Given the description of an element on the screen output the (x, y) to click on. 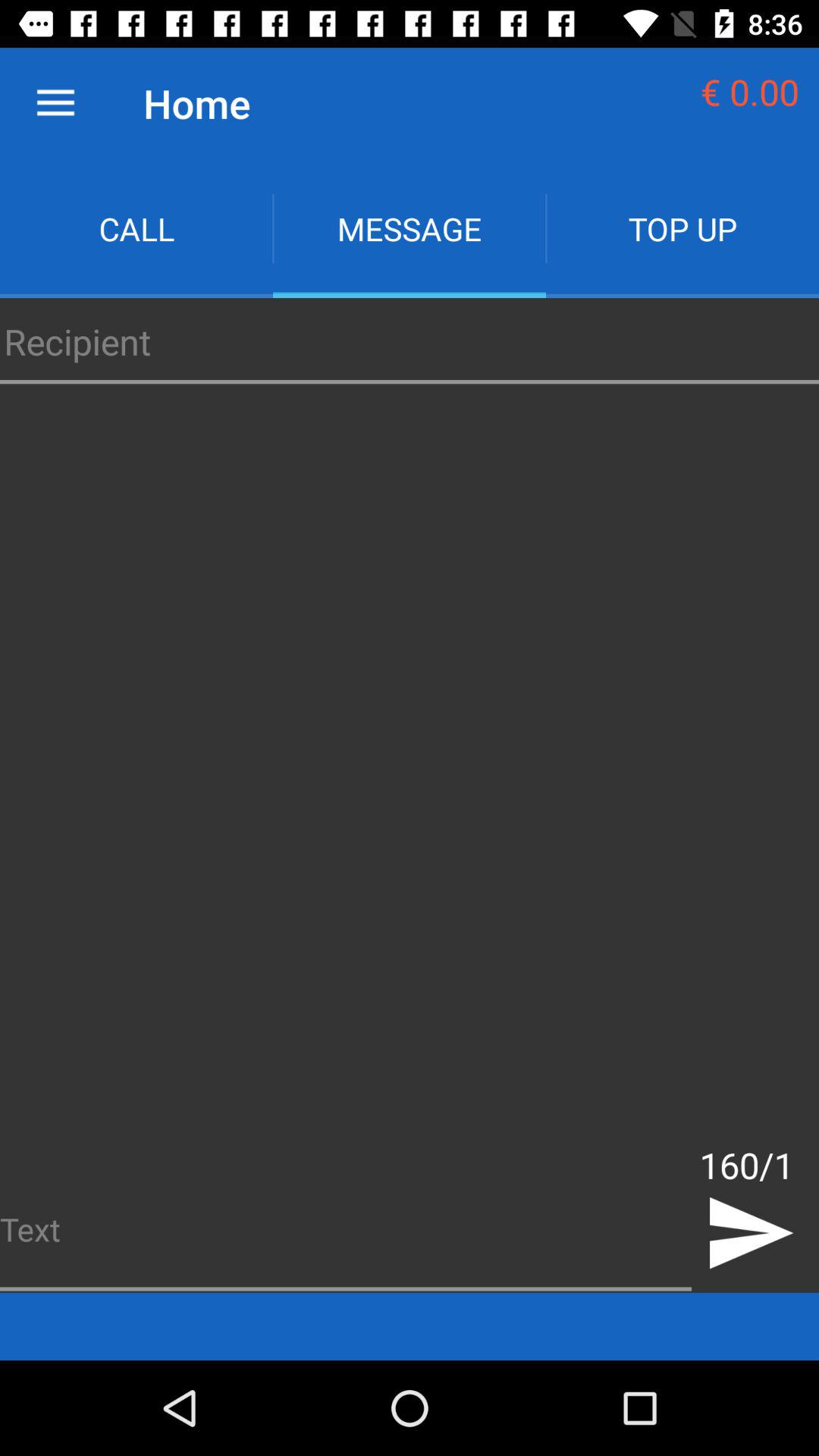
turn off icon next to the message item (682, 228)
